Given the description of an element on the screen output the (x, y) to click on. 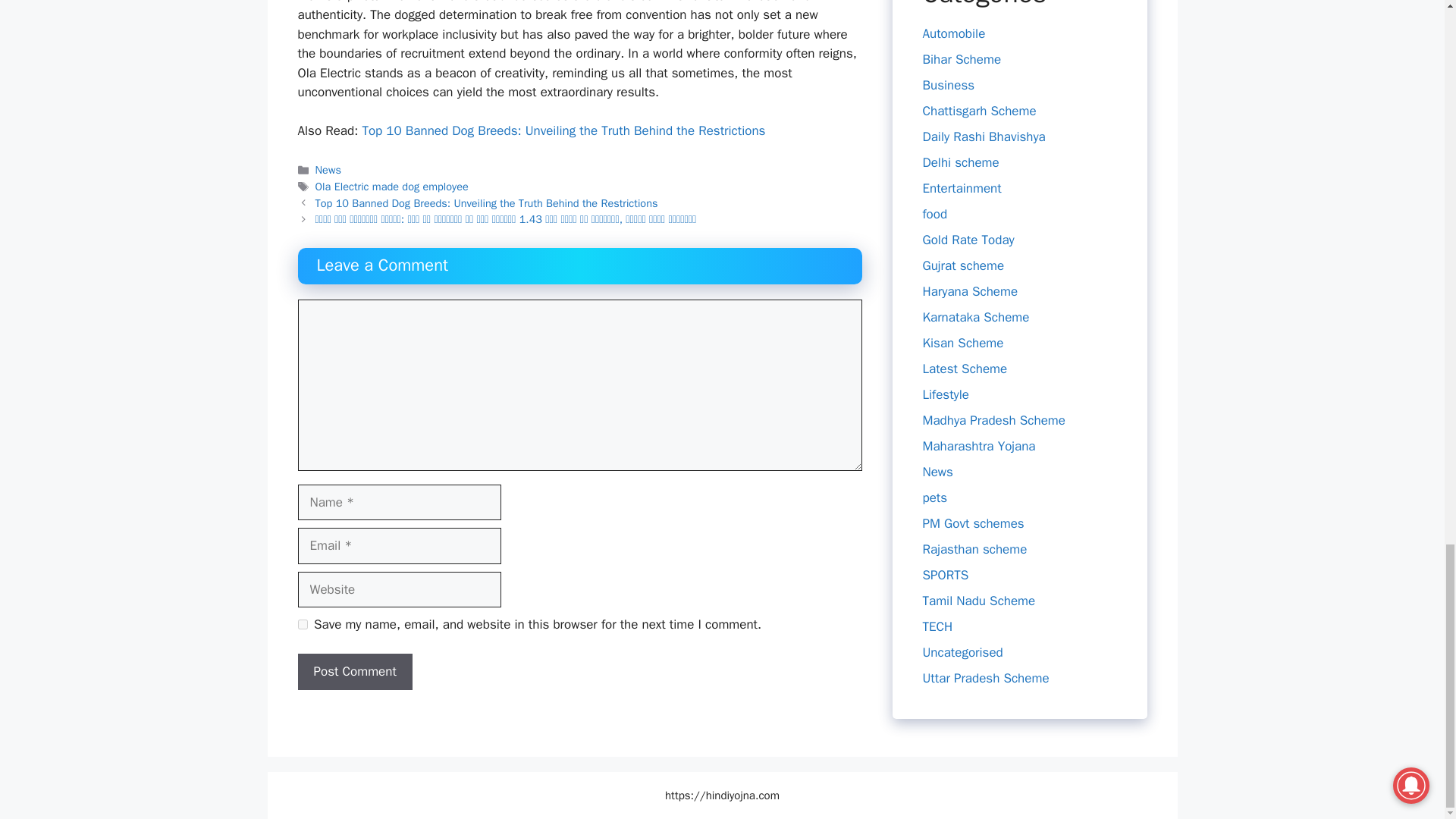
Ola Electric made dog employee (391, 186)
Post Comment (354, 671)
News (327, 169)
yes (302, 624)
Post Comment (354, 671)
